Given the description of an element on the screen output the (x, y) to click on. 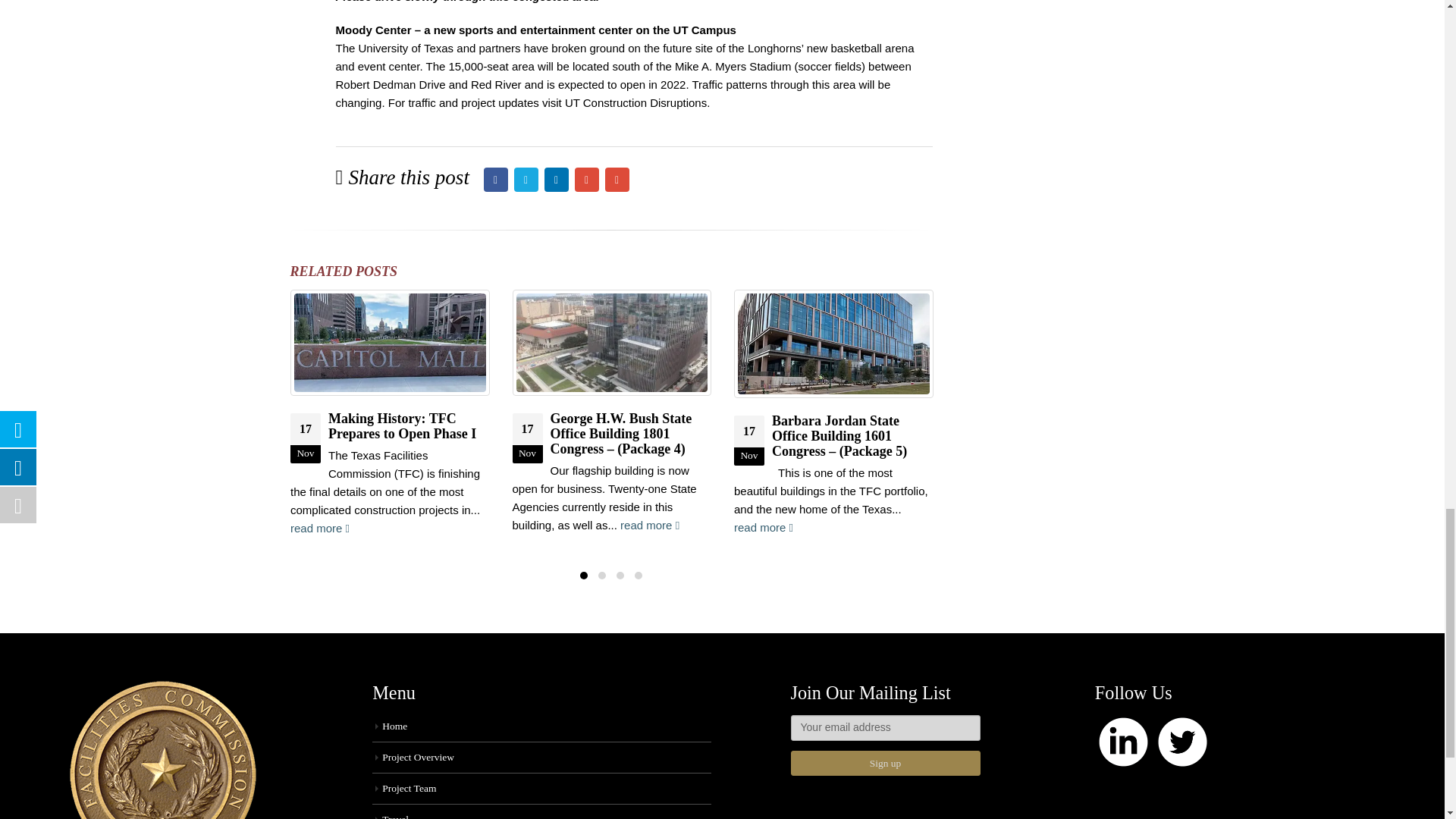
Twitter (525, 179)
UT Construction Disruptions (635, 102)
LinkedIn (556, 179)
Facebook (495, 179)
Email (616, 179)
Sign up (884, 763)
